Given the description of an element on the screen output the (x, y) to click on. 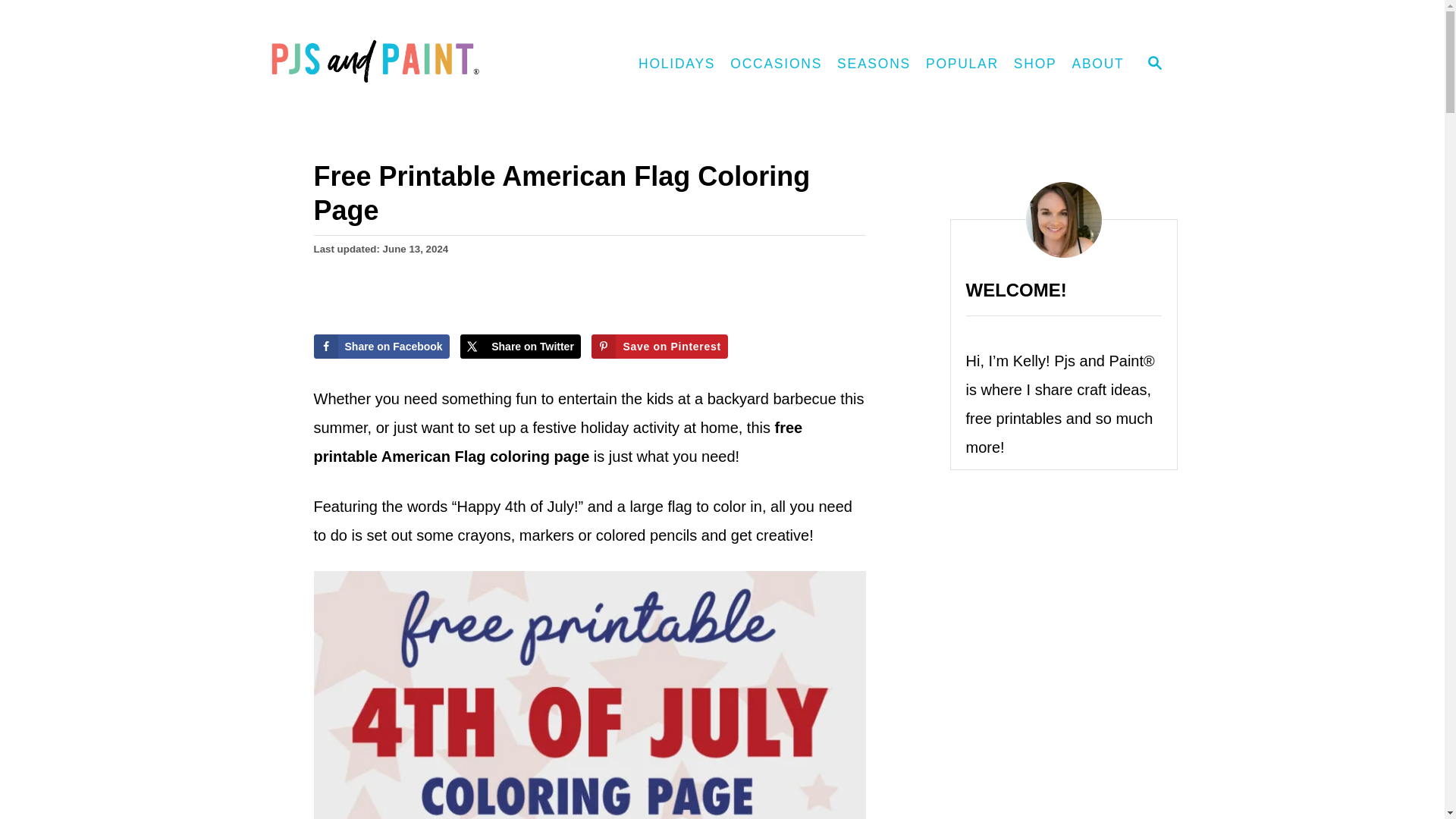
SEARCH (1153, 63)
HOLIDAYS (676, 64)
Share on Facebook (381, 346)
Pjs and Paint (403, 64)
Share on X (520, 346)
Save to Pinterest (658, 346)
POPULAR (962, 64)
SEASONS (873, 64)
OCCASIONS (775, 64)
